Given the description of an element on the screen output the (x, y) to click on. 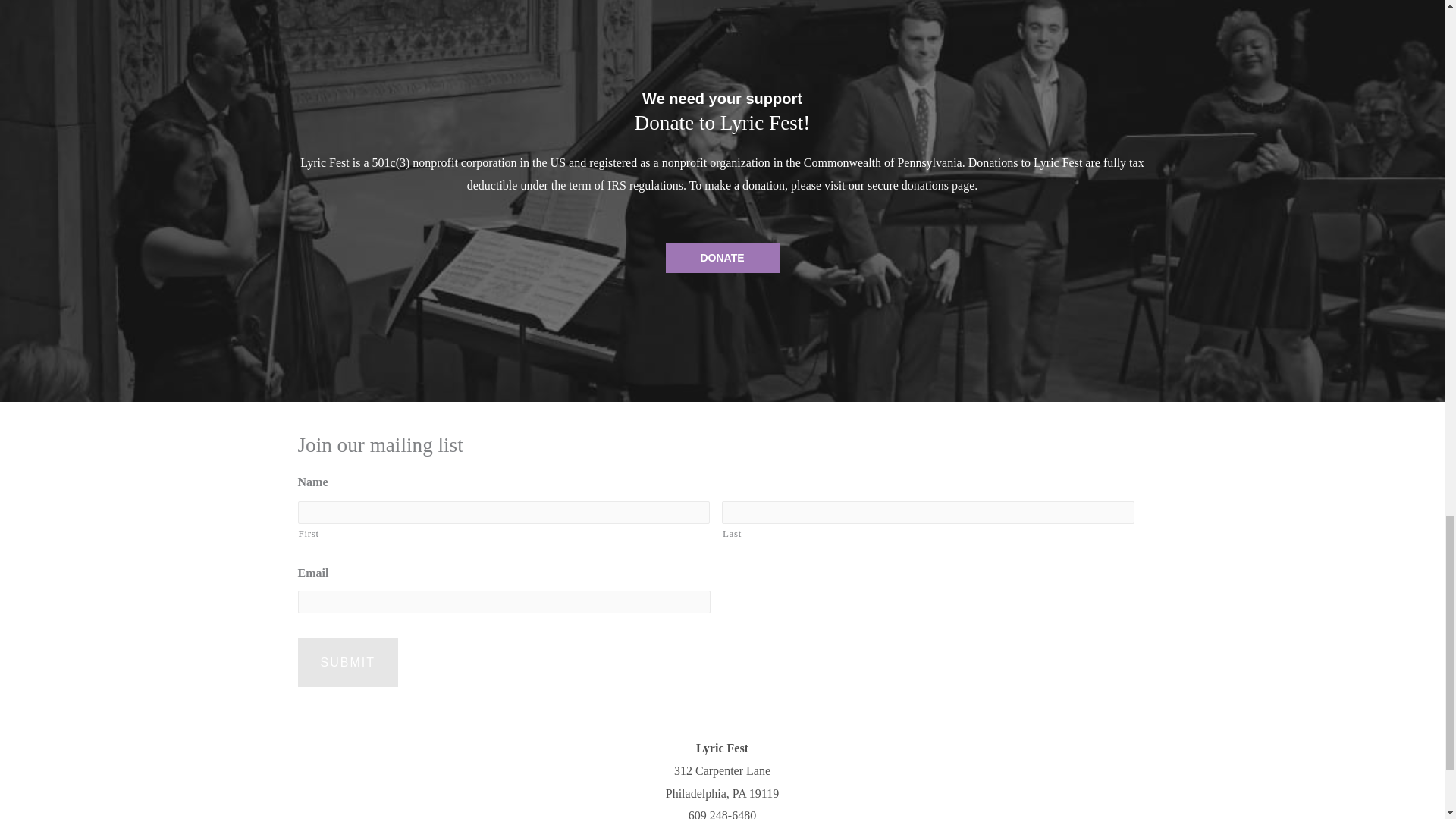
Submit (347, 662)
DONATE (721, 257)
